Given the description of an element on the screen output the (x, y) to click on. 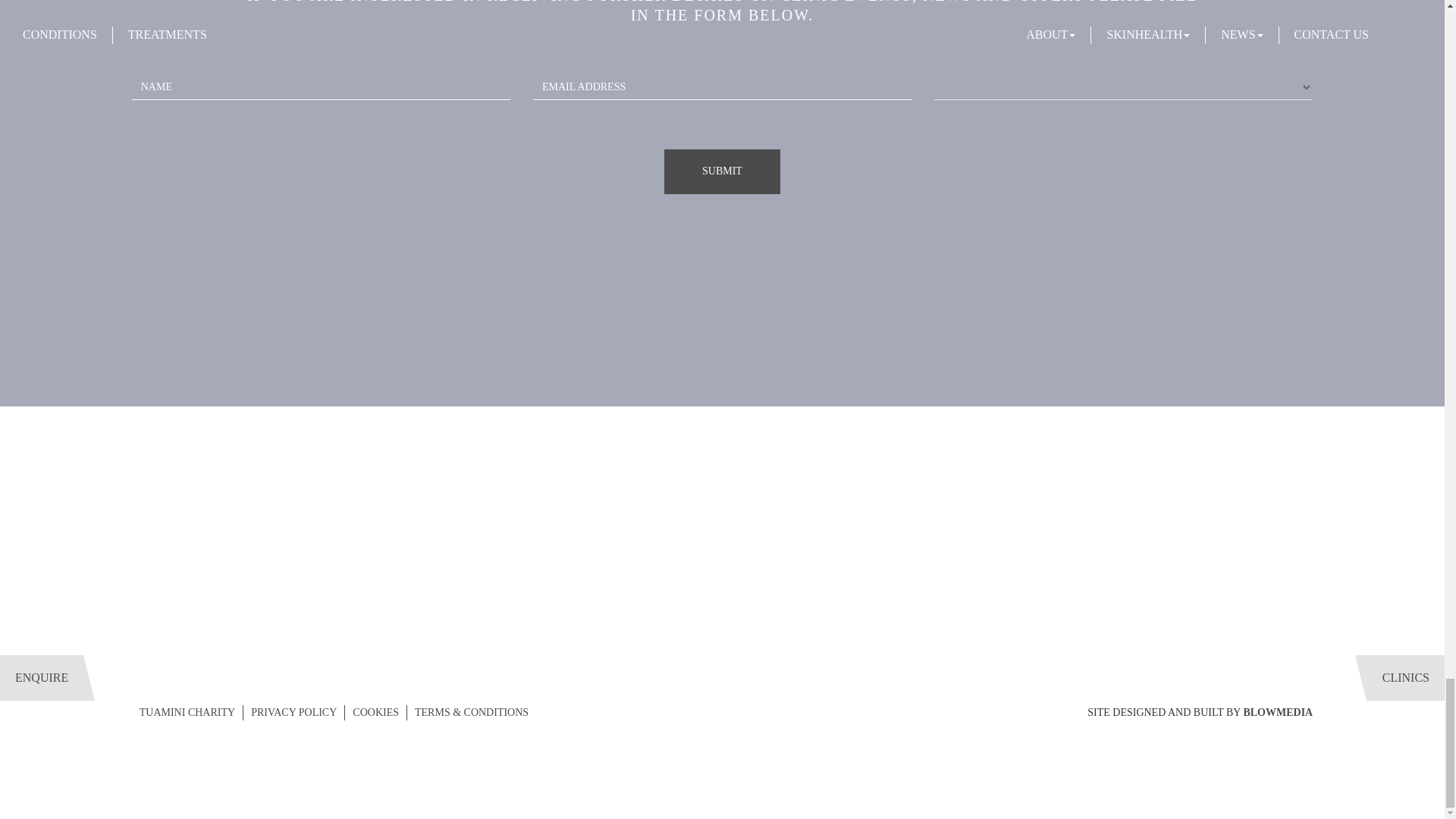
Blowmedia (1278, 712)
